Given the description of an element on the screen output the (x, y) to click on. 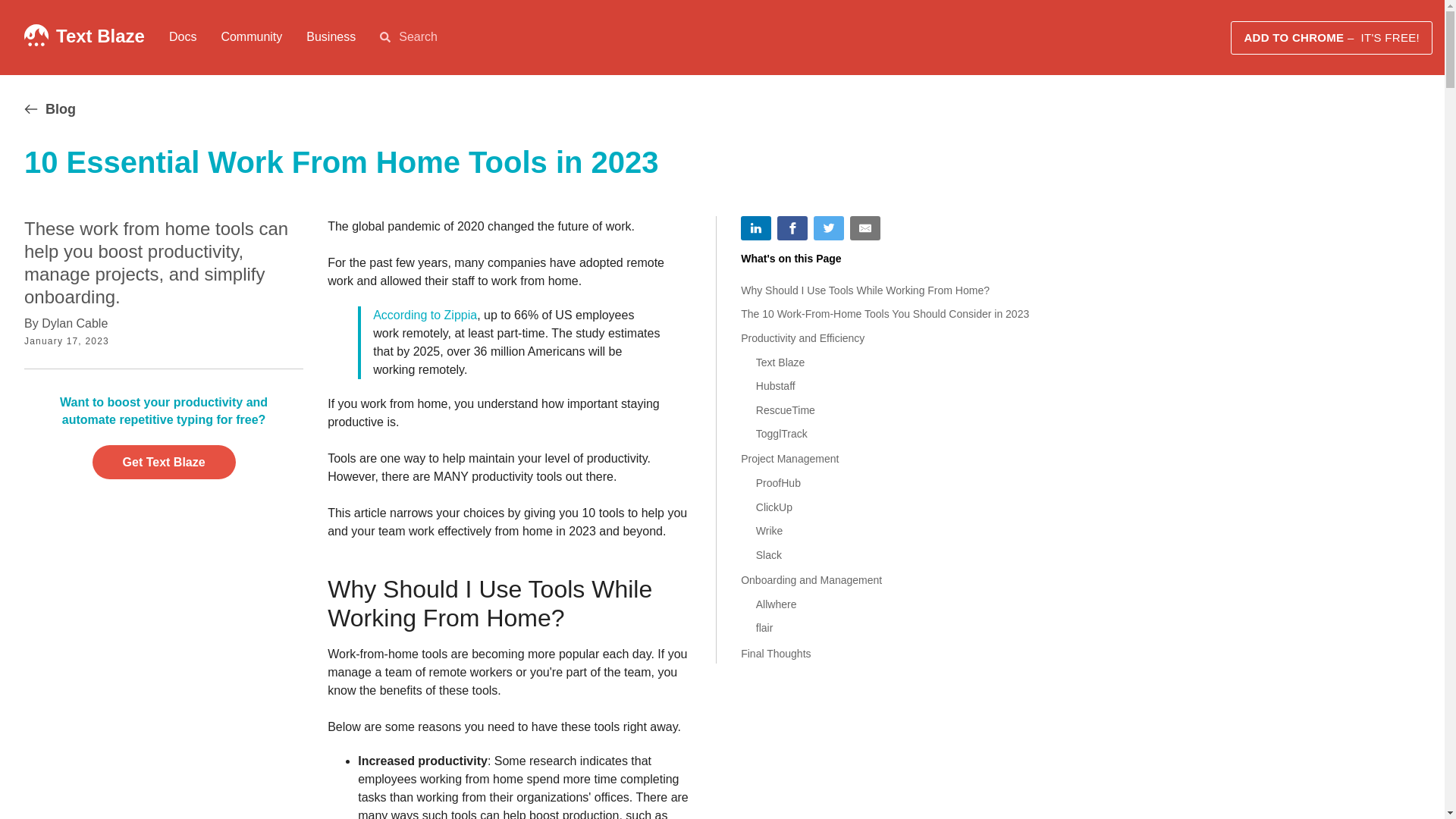
Productivity and Efficiency (886, 338)
TogglTrack (894, 434)
Final Thoughts (886, 653)
Business (330, 36)
Slack (894, 555)
Wrike (894, 531)
Text Blaze (100, 35)
Dylan Cable (74, 323)
Text Blaze (894, 362)
RescueTime (894, 410)
